Given the description of an element on the screen output the (x, y) to click on. 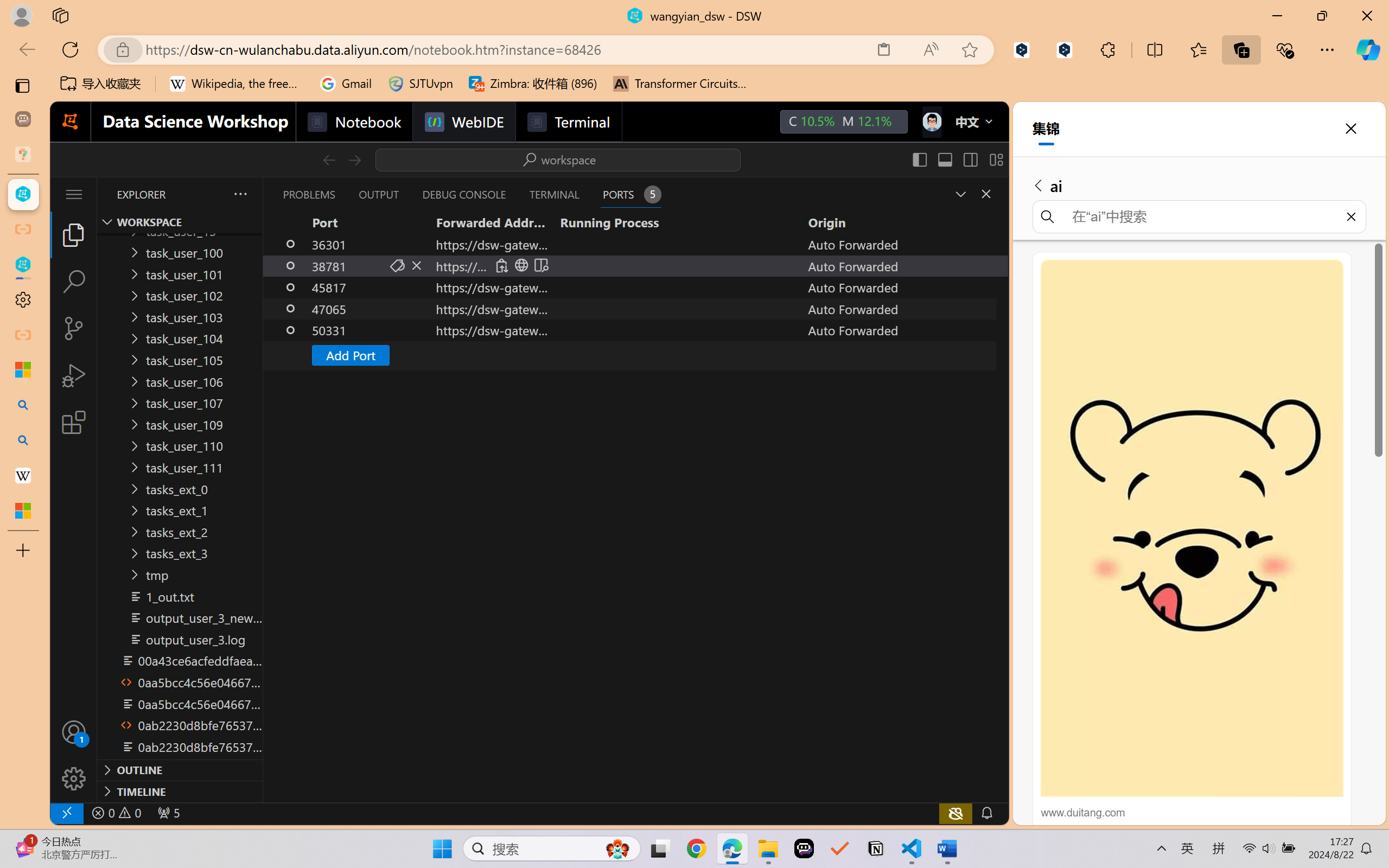
Notebook (353, 121)
Go Back (Alt+LeftArrow) (329, 159)
Earth - Wikipedia (22, 475)
Output (Ctrl+Shift+U) (377, 194)
Class: menubar compact overflow-menu-only (73, 194)
wangyian_webcrawler - DSW (22, 264)
wangyian_dsw - DSW (22, 194)
Customize Layout... (995, 159)
Copy Local Address (Ctrl+C) (501, 265)
Explorer Section: workspace (179, 221)
